Given the description of an element on the screen output the (x, y) to click on. 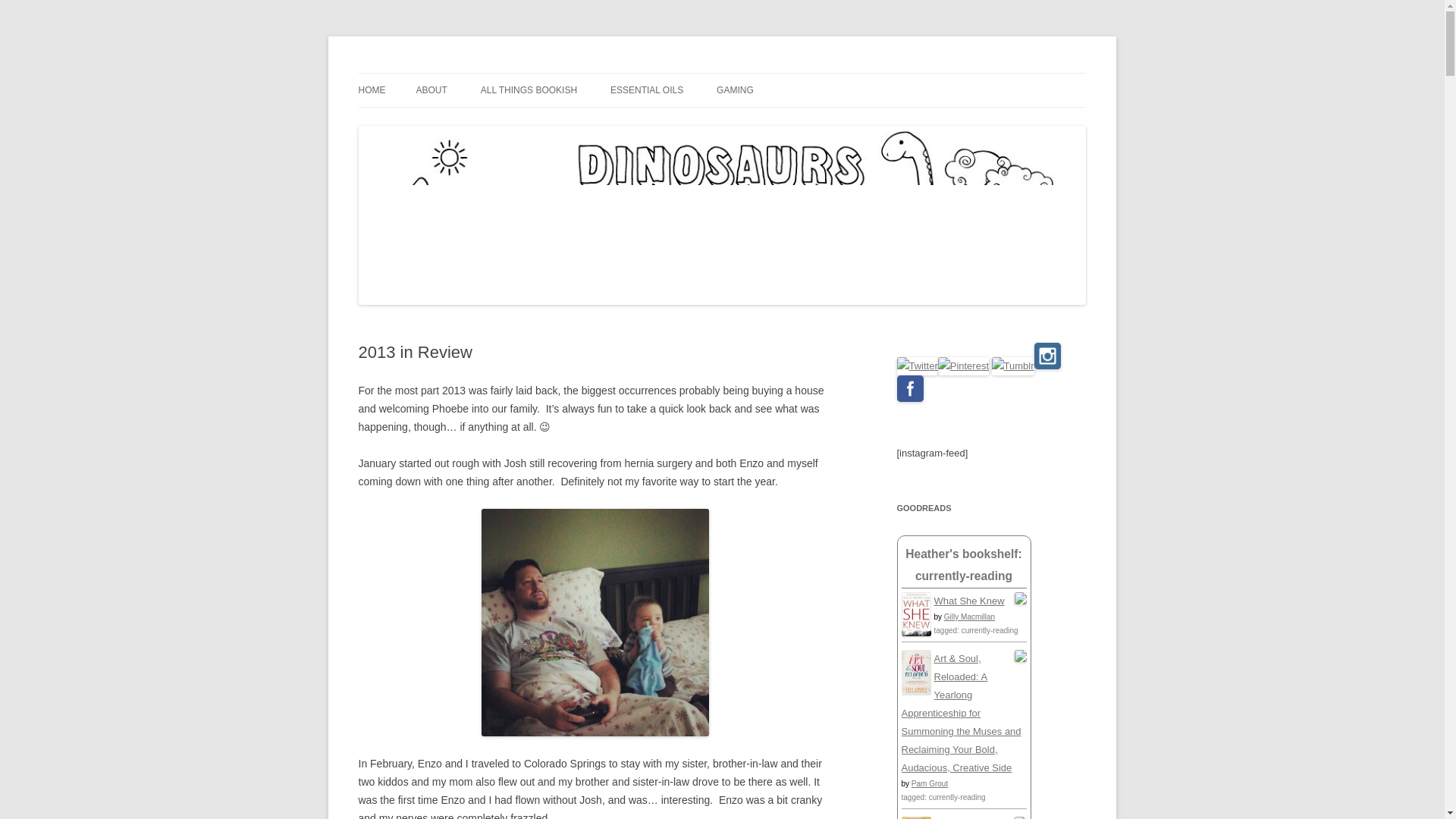
Facebook (909, 388)
Twitter (916, 366)
GAMING (735, 90)
Tumblr (1012, 366)
ALL THINGS BOOKISH (528, 90)
Pinterest (962, 366)
ESSENTIAL OILS (646, 90)
Instagram (1047, 356)
ABOUT (430, 90)
Dino and Bunnies (441, 72)
